Given the description of an element on the screen output the (x, y) to click on. 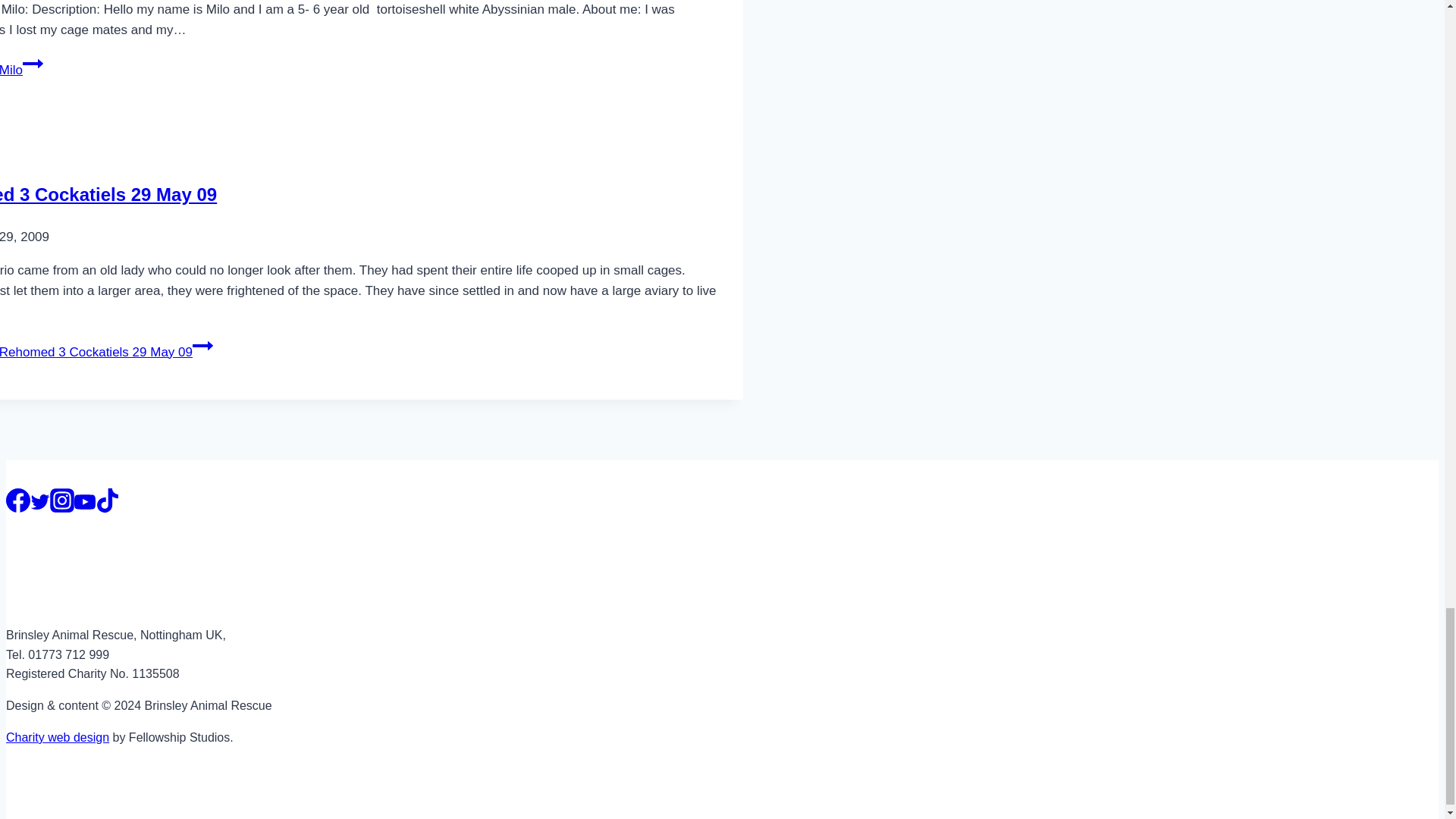
Continue (33, 63)
Continue (202, 345)
TikTok (107, 500)
Twitter (39, 501)
YouTube (85, 501)
Instagram (61, 500)
Facebook (17, 500)
